Given the description of an element on the screen output the (x, y) to click on. 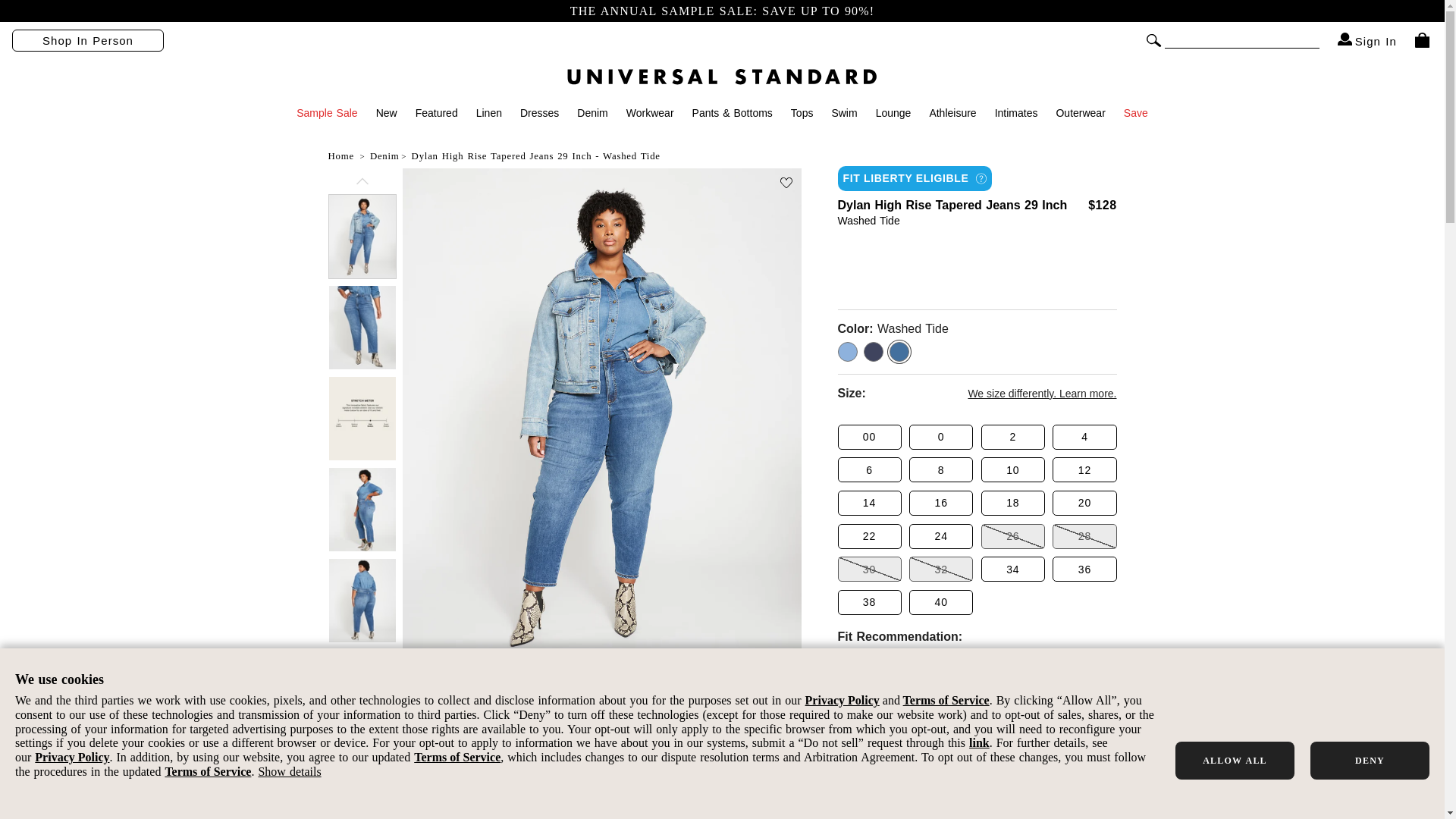
Show details (288, 771)
Privacy Policy (71, 757)
ALLOW ALL (1234, 760)
Terms of Service (946, 699)
Privacy Policy (842, 699)
DENY (1369, 760)
Terms of Service (456, 757)
link (979, 742)
Terms of Service (207, 771)
